Given the description of an element on the screen output the (x, y) to click on. 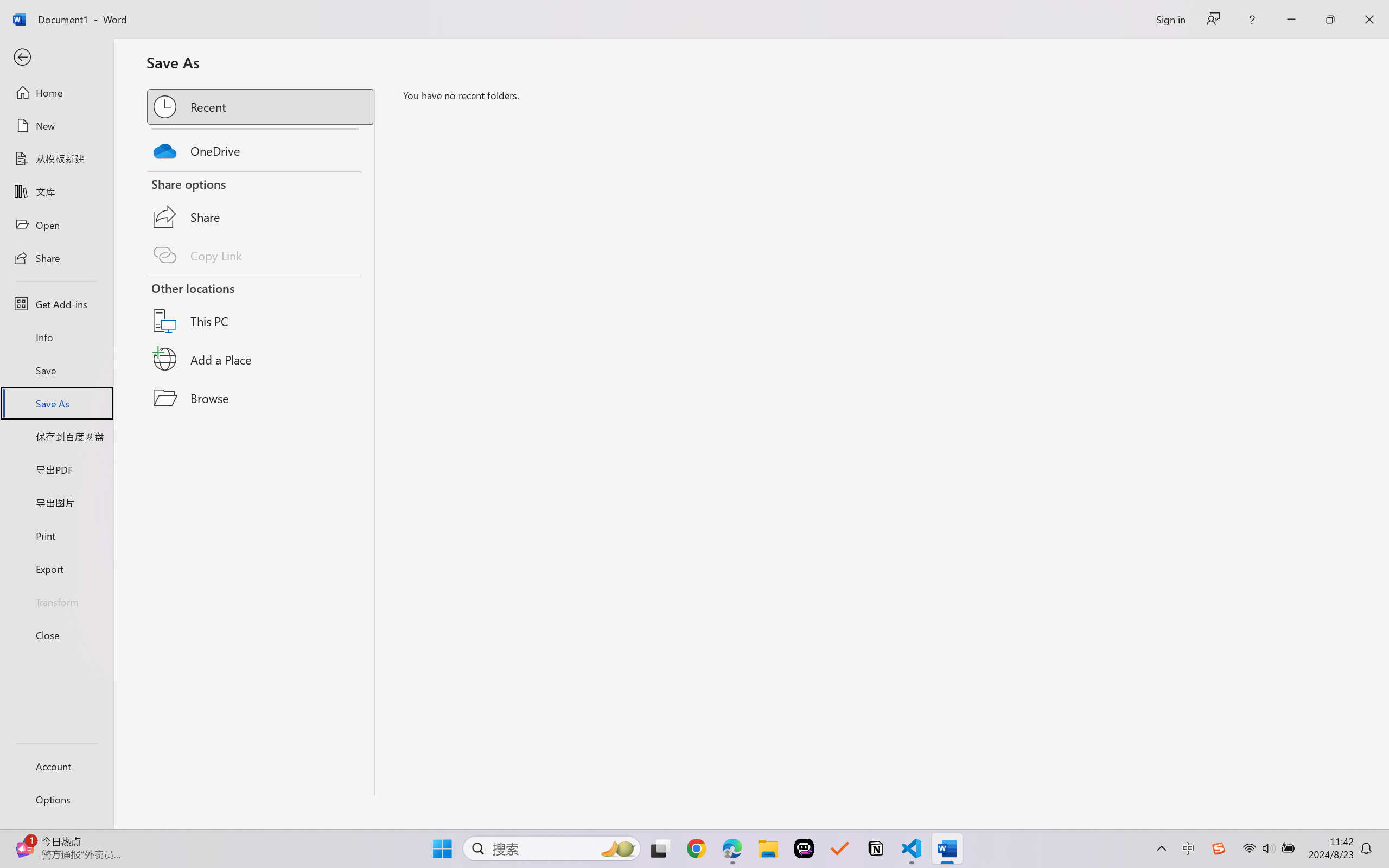
Export (56, 568)
Transform (56, 601)
Recent (261, 106)
Save As (56, 403)
Sign in (1170, 18)
Add a Place (261, 358)
Info (56, 337)
